Given the description of an element on the screen output the (x, y) to click on. 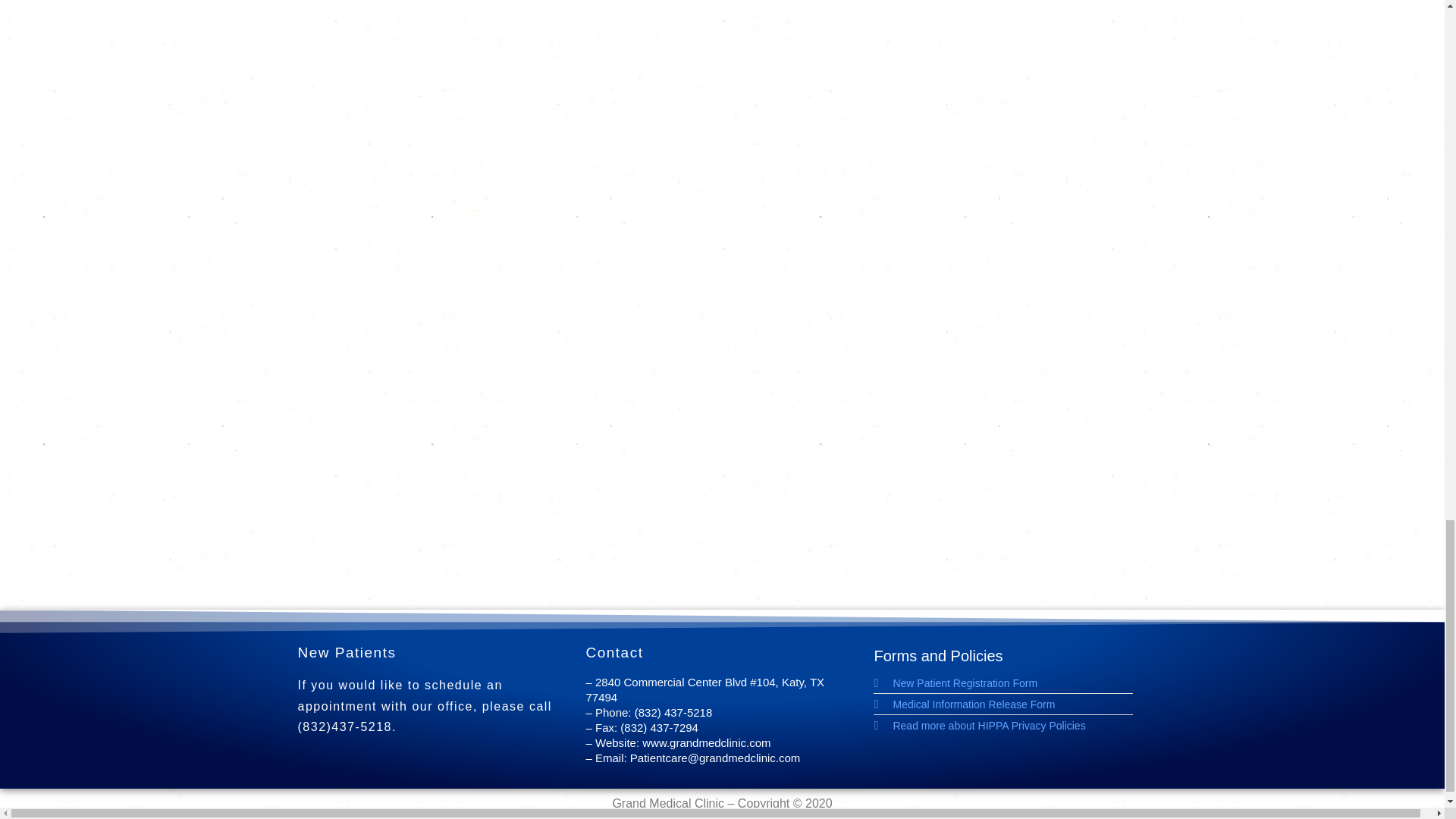
Read more about HIPPA Privacy Policies (1010, 725)
New Patient Registration Form (1010, 683)
Medical Information Release Form (1010, 703)
